Given the description of an element on the screen output the (x, y) to click on. 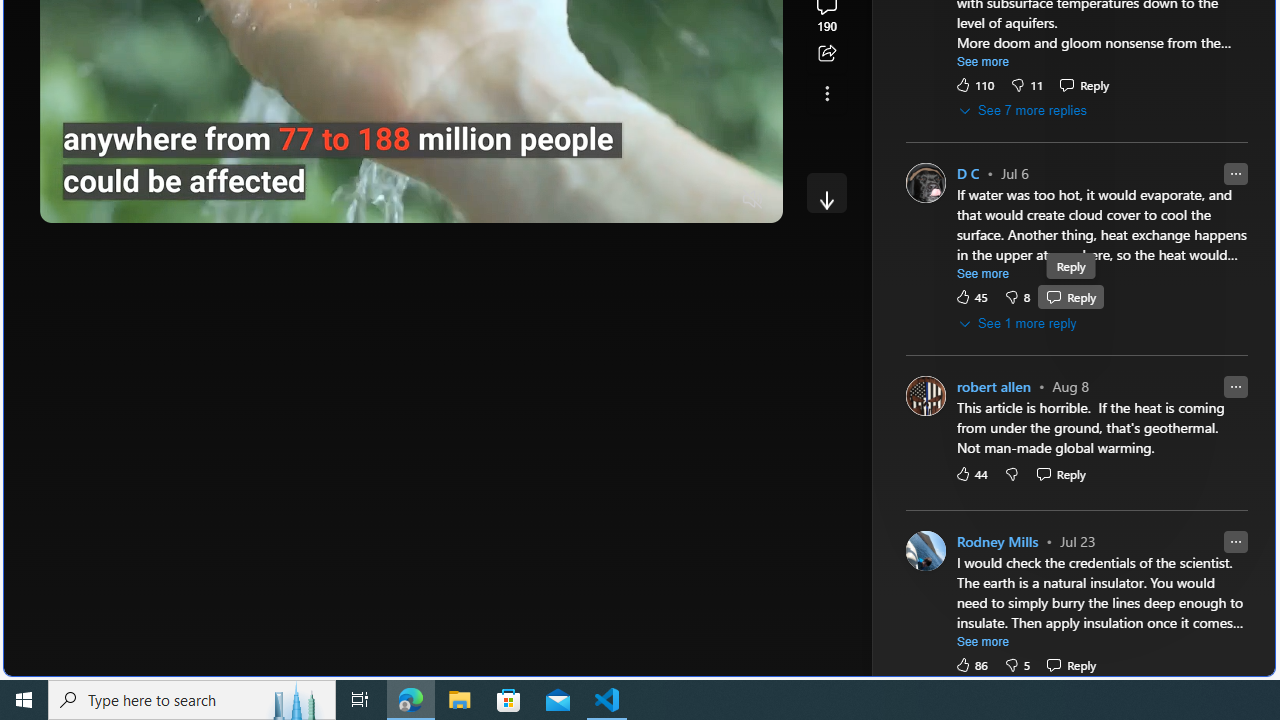
Share this story (826, 53)
86 Like (970, 664)
robert allen (993, 385)
Fullscreen (714, 200)
44 Like (970, 473)
Profile Picture (924, 549)
AutomationID: e5rZOEMGacU1 (826, 192)
110 Like (974, 84)
